Given the description of an element on the screen output the (x, y) to click on. 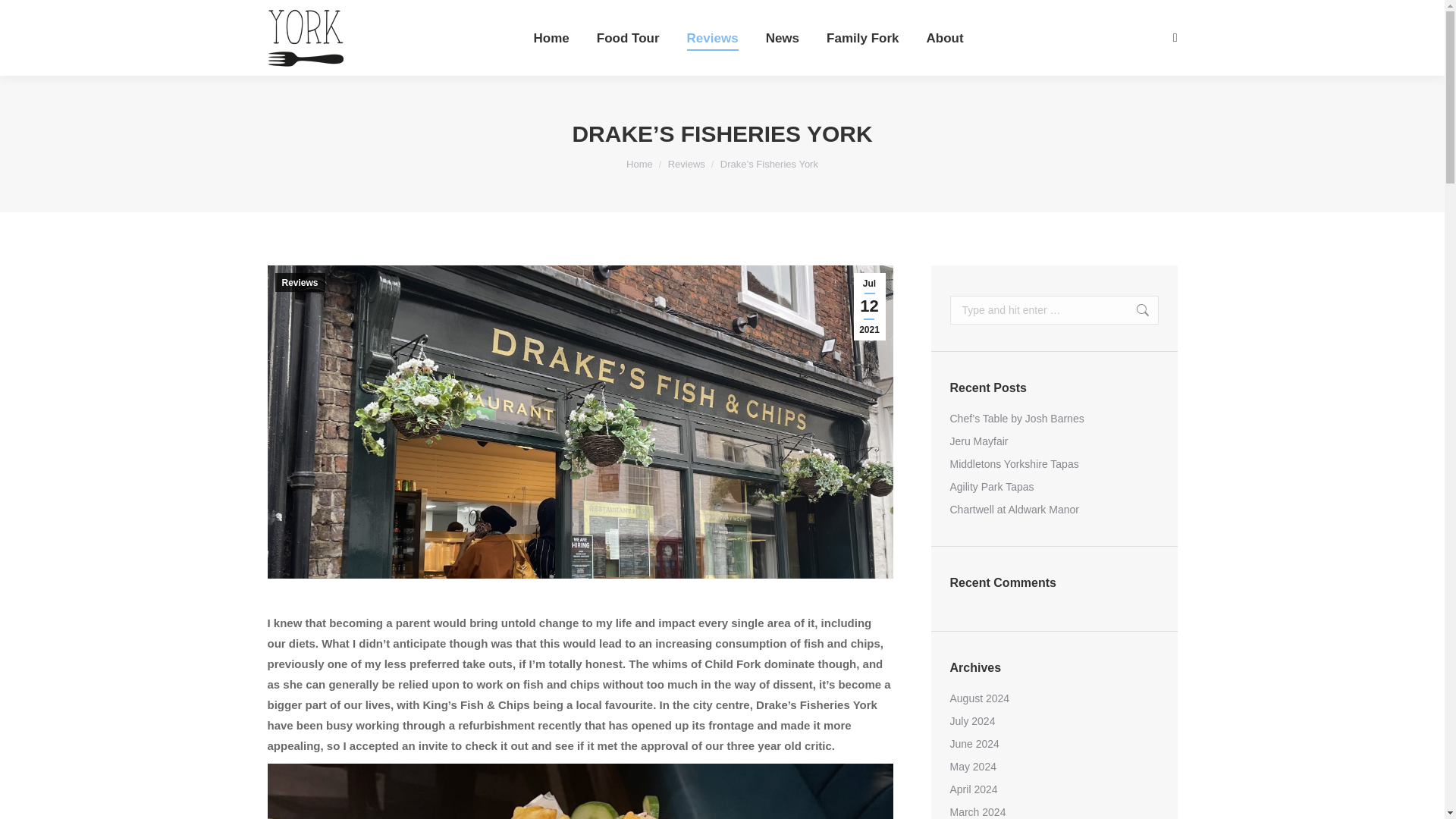
Reviews (686, 163)
Reviews (686, 163)
Go! (1134, 309)
Home (639, 163)
About (944, 37)
Go! (1134, 309)
Food Tour (628, 37)
Reviews (712, 37)
Reviews (299, 281)
Go! (24, 16)
